Given the description of an element on the screen output the (x, y) to click on. 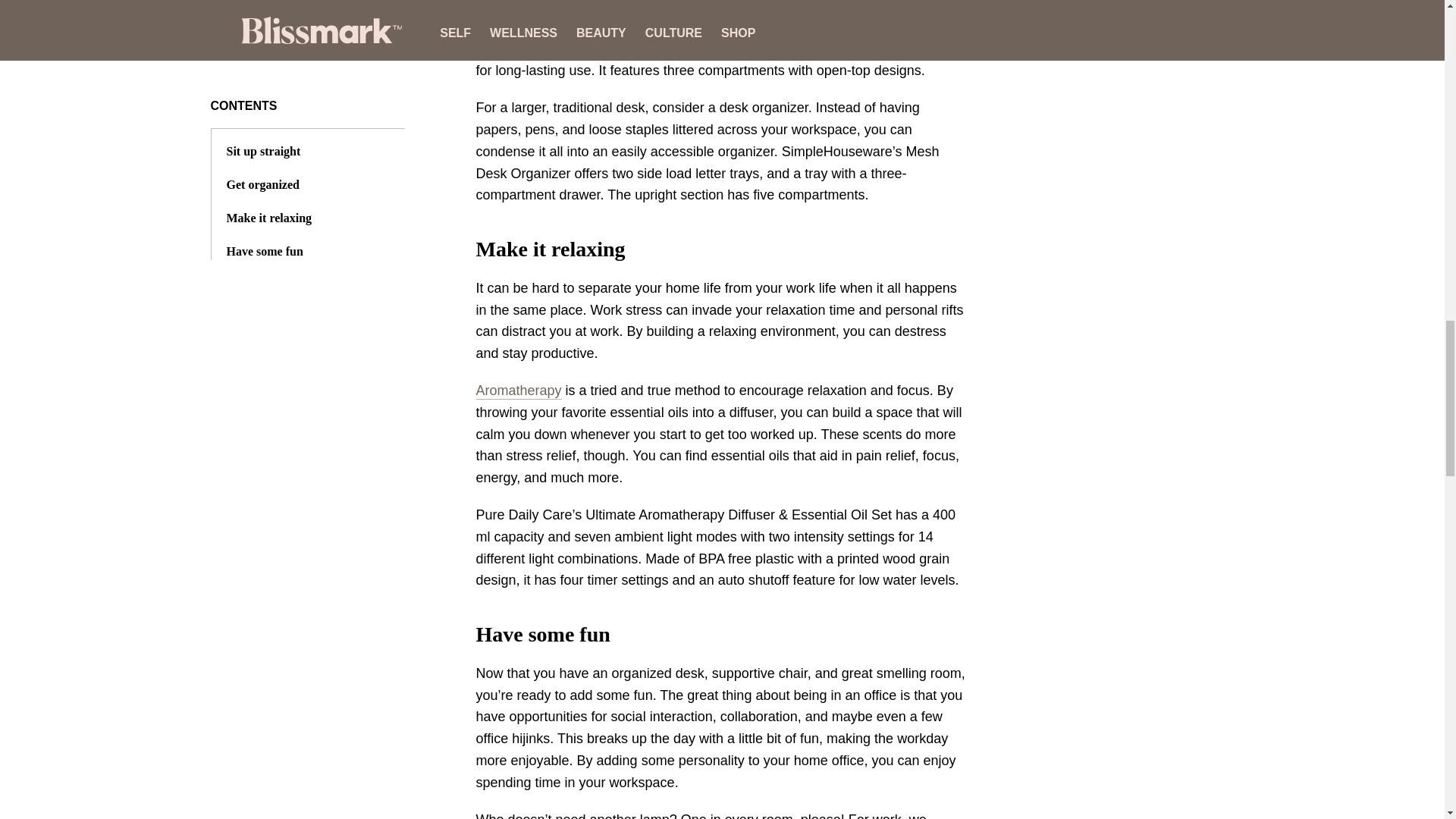
Aromatherapy (519, 391)
